Given the description of an element on the screen output the (x, y) to click on. 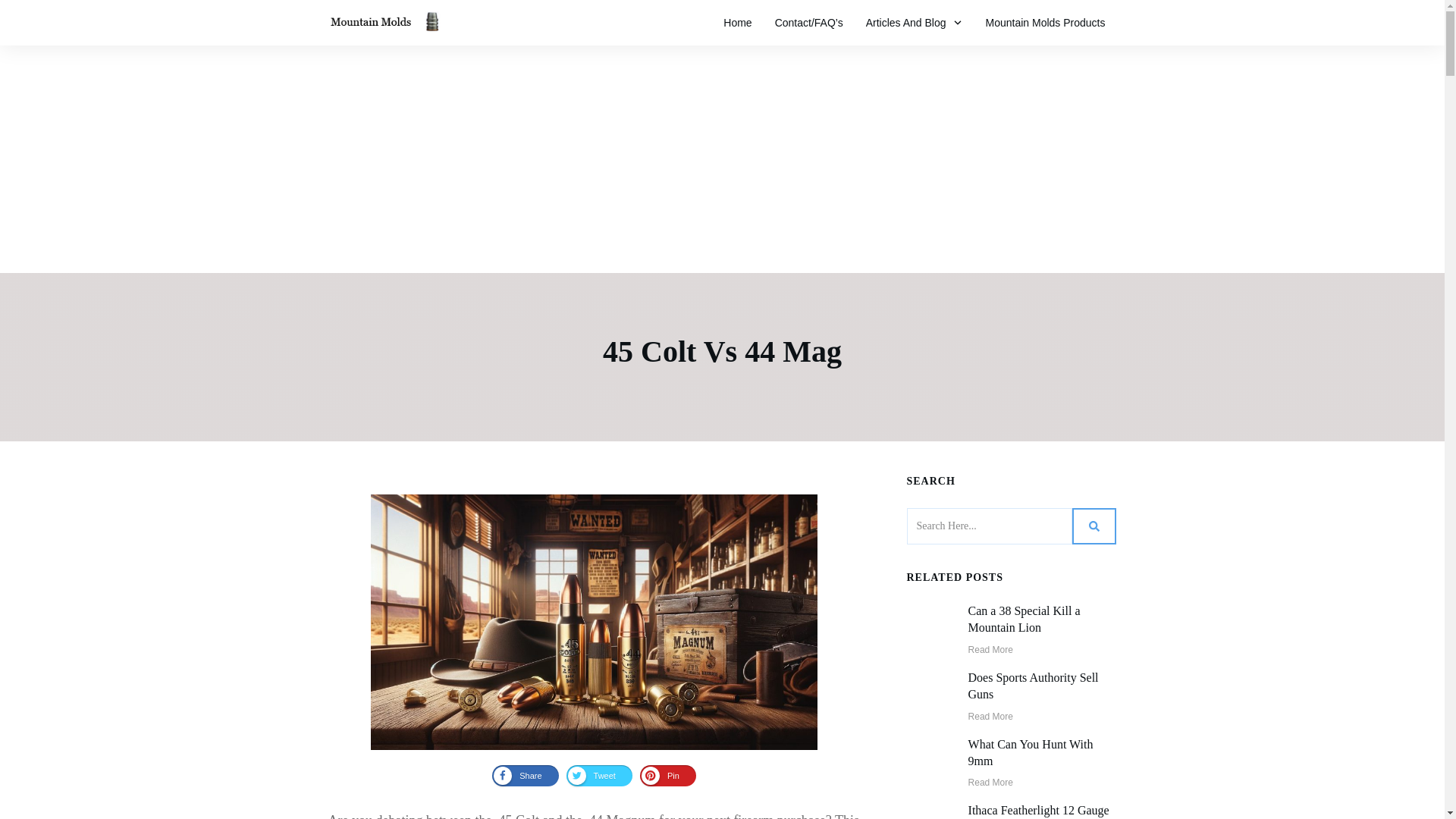
45 Colt Vs 44 Mag (721, 351)
Home (737, 22)
What Can You Hunt With 9mm (1030, 752)
Read More (990, 649)
Tweet (598, 775)
What Can You Hunt With 9mm (1030, 752)
Share (524, 775)
45 Colt Vs 44 Mag (721, 351)
Does Sports Authority Sell Guns (1033, 685)
Ithaca Featherlight 12 Gauge Review (1038, 811)
45 Colt Vs 44 Mag (594, 622)
Articles And Blog (914, 22)
Pin (667, 775)
Can a 38 Special Kill a Mountain Lion (1024, 618)
